Given the description of an element on the screen output the (x, y) to click on. 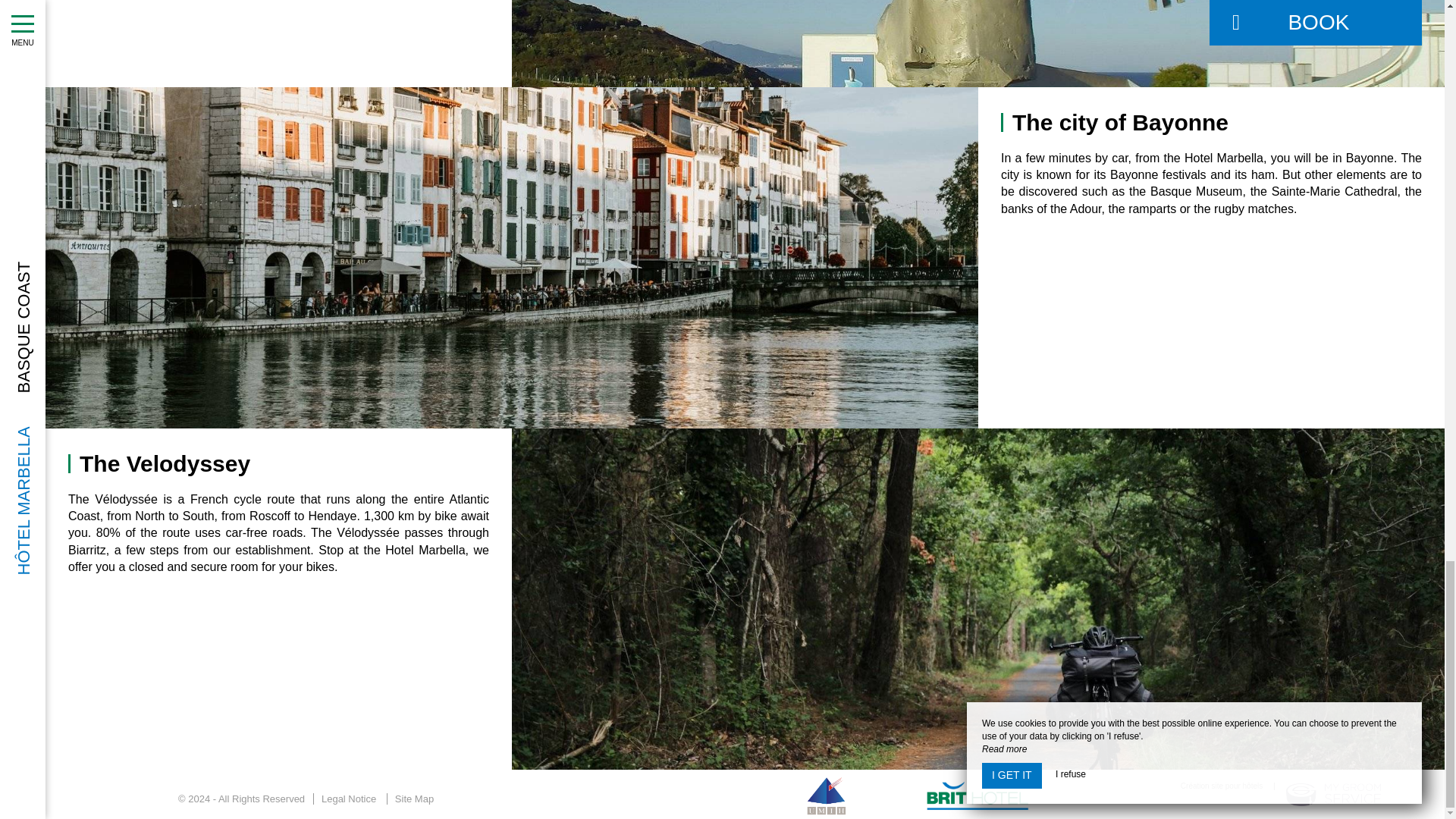
Site Map (414, 798)
Legal Notice (348, 798)
